Given the description of an element on the screen output the (x, y) to click on. 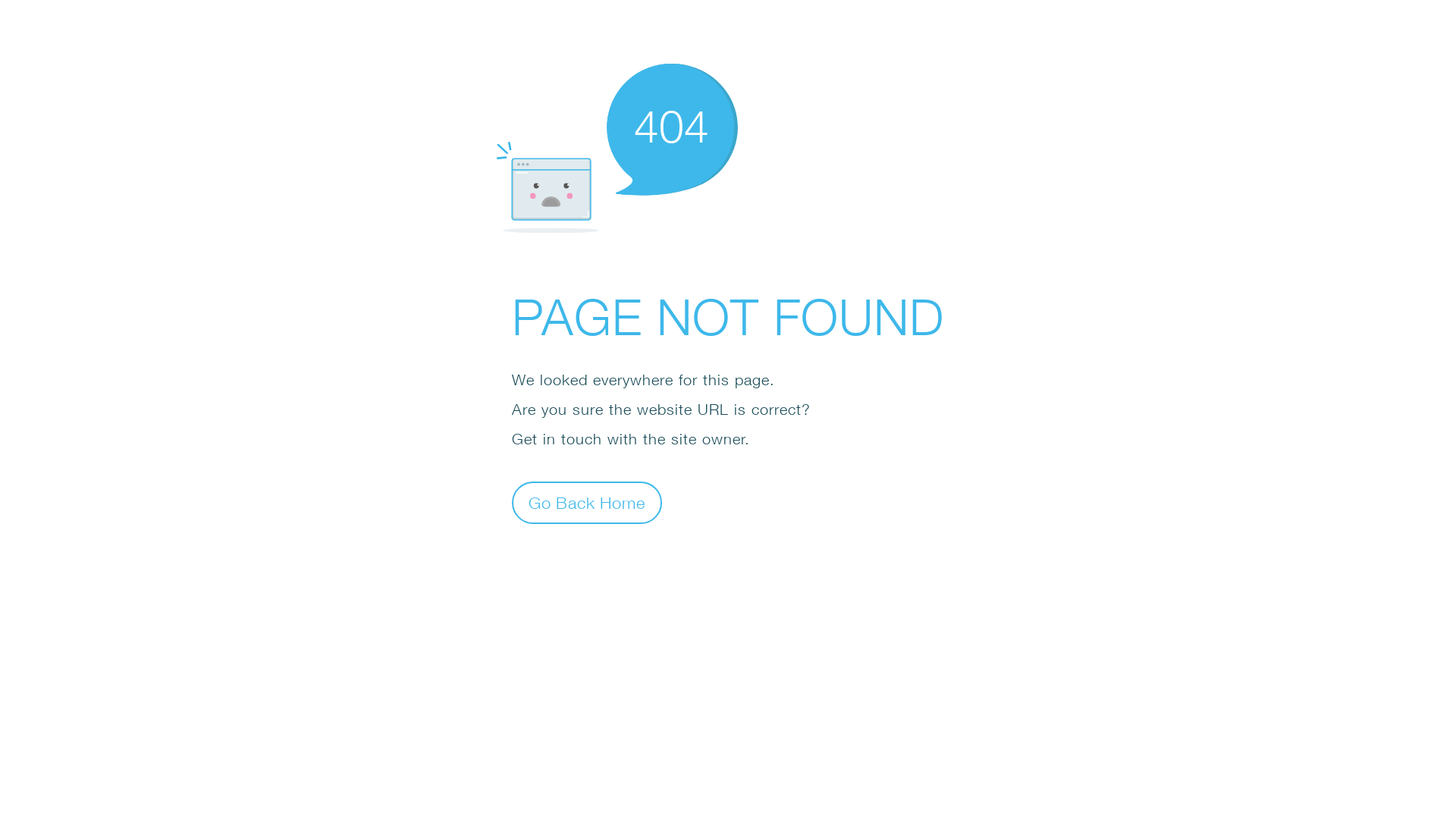
Go Back Home Element type: text (586, 502)
